Given the description of an element on the screen output the (x, y) to click on. 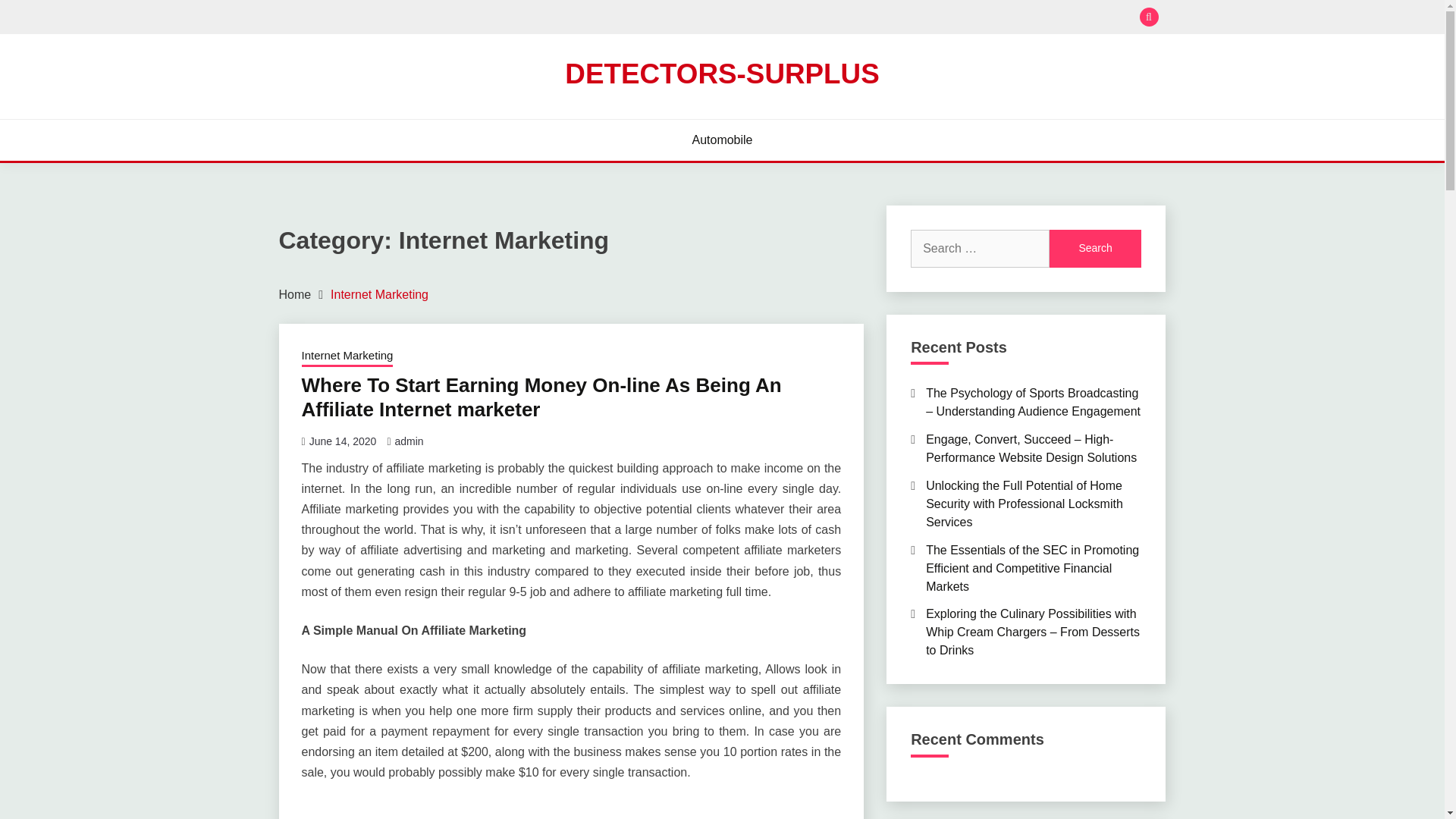
Search (1095, 248)
Internet Marketing (379, 294)
Automobile (721, 140)
June 14, 2020 (342, 440)
admin (408, 440)
Search (1095, 248)
Search (832, 18)
